Given the description of an element on the screen output the (x, y) to click on. 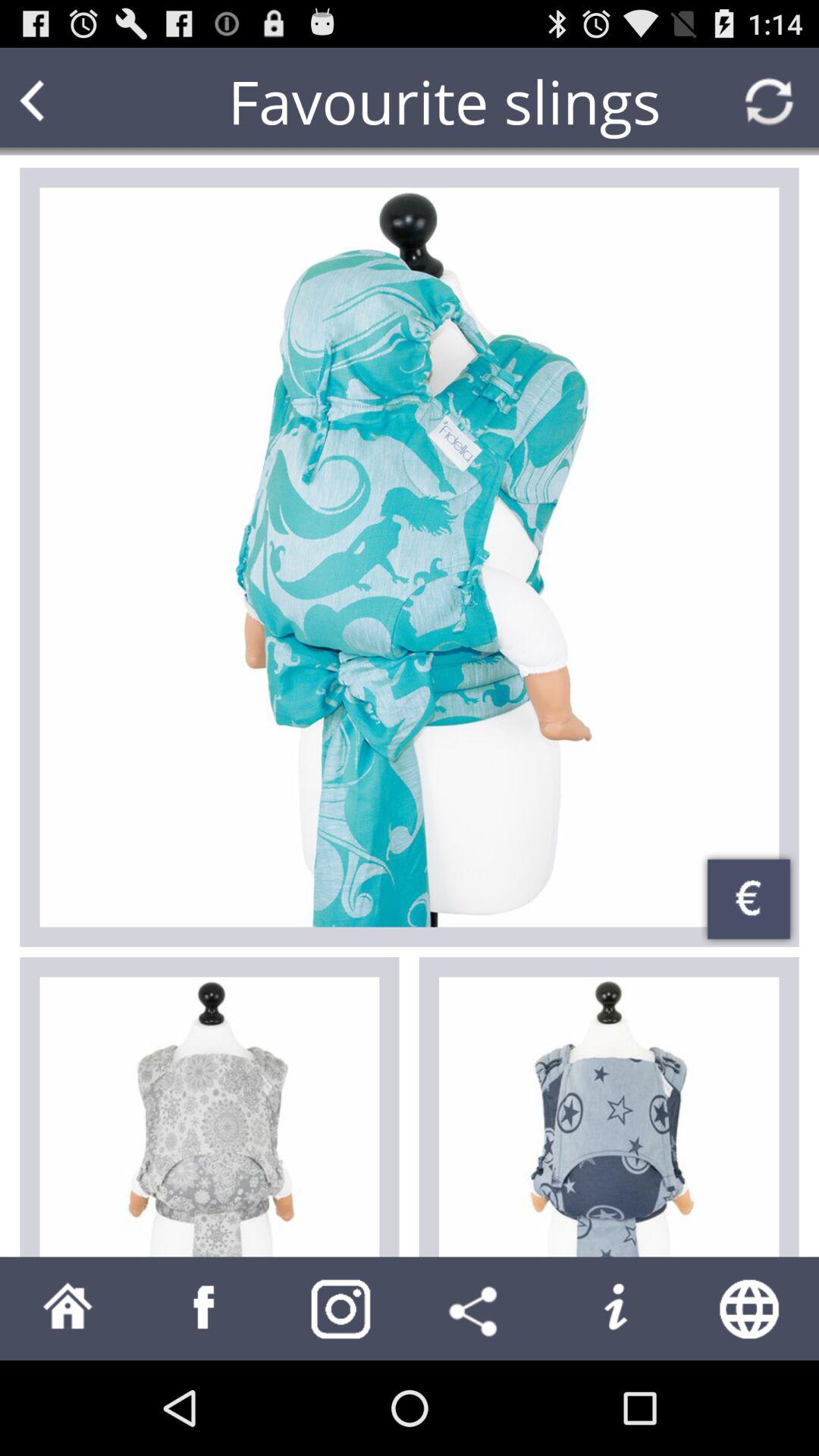
zoom in on image (409, 557)
